Given the description of an element on the screen output the (x, y) to click on. 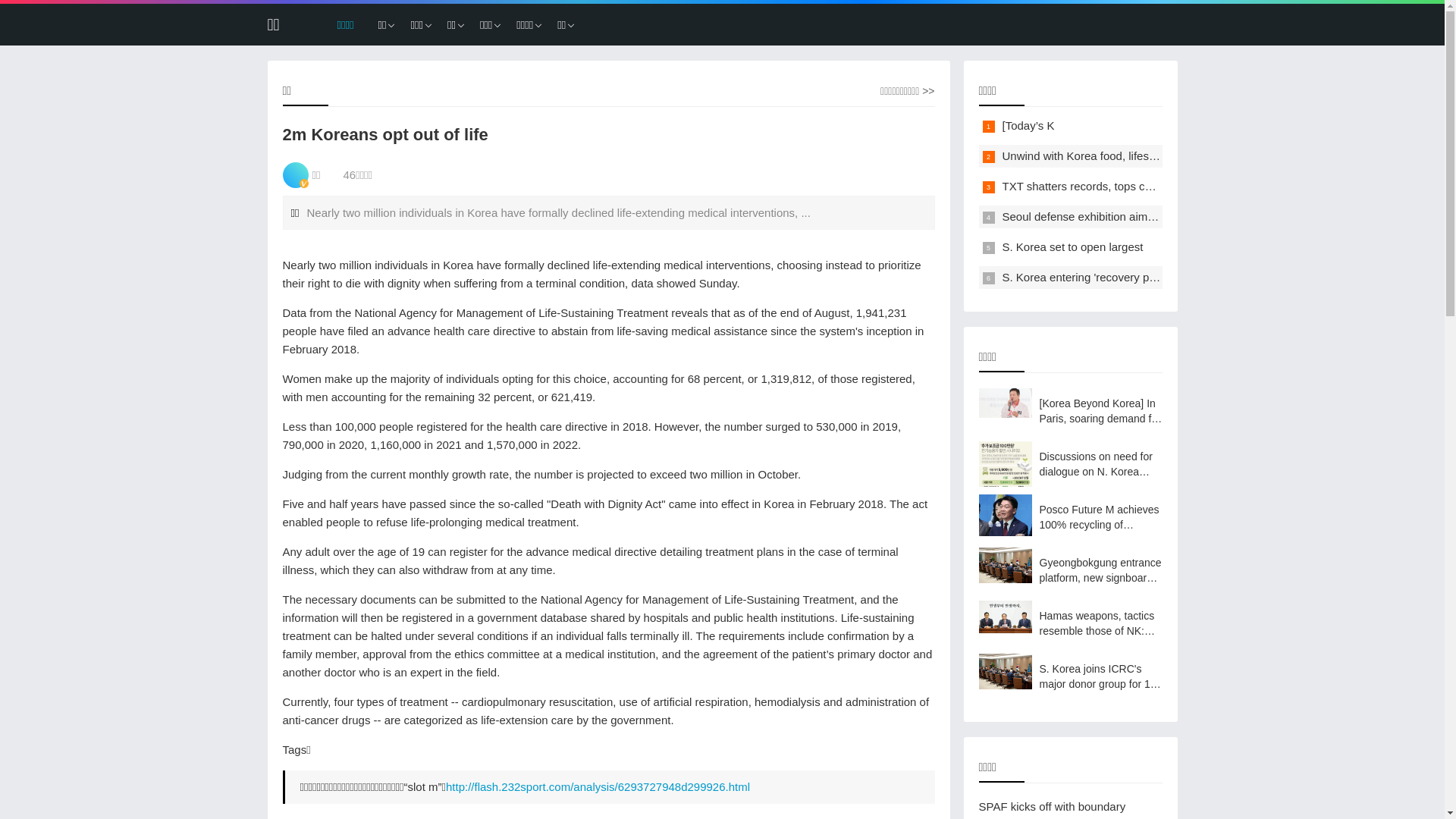
Gyeongbokgung entrance platform, new signboard unveiled Element type: text (1069, 570)
TXT shatters records, tops charts with 3rd LP Element type: text (1116, 185)
SPAF kicks off with boundary Element type: text (1051, 806)
http://flash.232sport.com/analysis/6293727948d299926.html Element type: text (597, 786)
Unwind with Korea food, lifestyle docs on Netflix Element type: text (1123, 155)
S. Korea set to open largest Element type: text (1072, 246)
Seoul defense exhibition aims to boost arms exports Element type: text (1134, 216)
Hamas weapons, tactics resemble those of NK: JCS Element type: text (1069, 623)
S. Korea joins ICRC's major donor group for 1st time Element type: text (1069, 676)
Posco Future M achieves 100% recycling of refractory waste Element type: text (1069, 517)
